Given the description of an element on the screen output the (x, y) to click on. 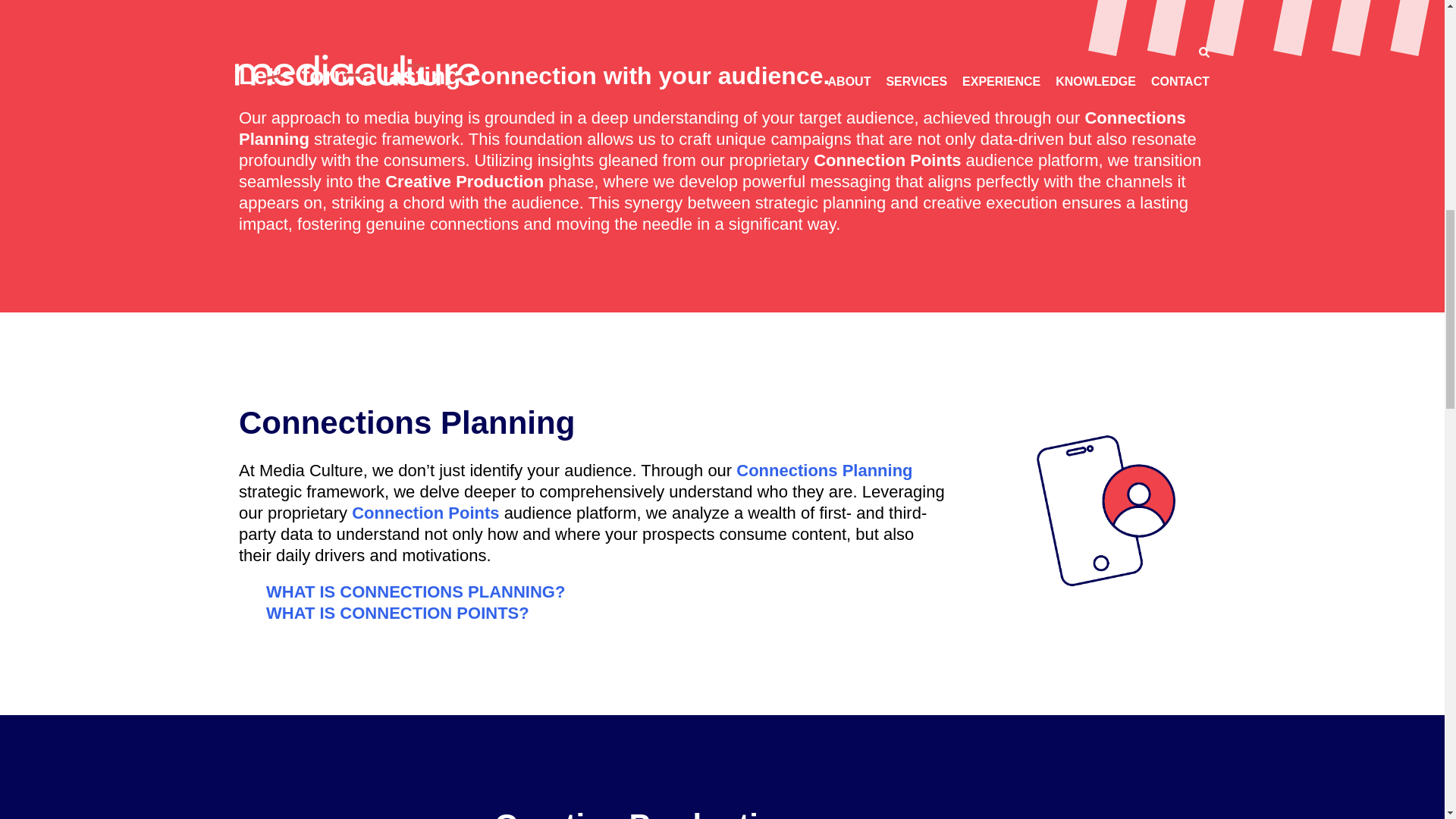
Creative Insights Icon (338, 816)
Connection Points (425, 512)
WHAT IS CONNECTIONS PLANNING? (415, 590)
WHAT IS CONNECTION POINTS? (397, 612)
Connections Planning (824, 470)
Audience Insights Icon (1105, 510)
